Given the description of an element on the screen output the (x, y) to click on. 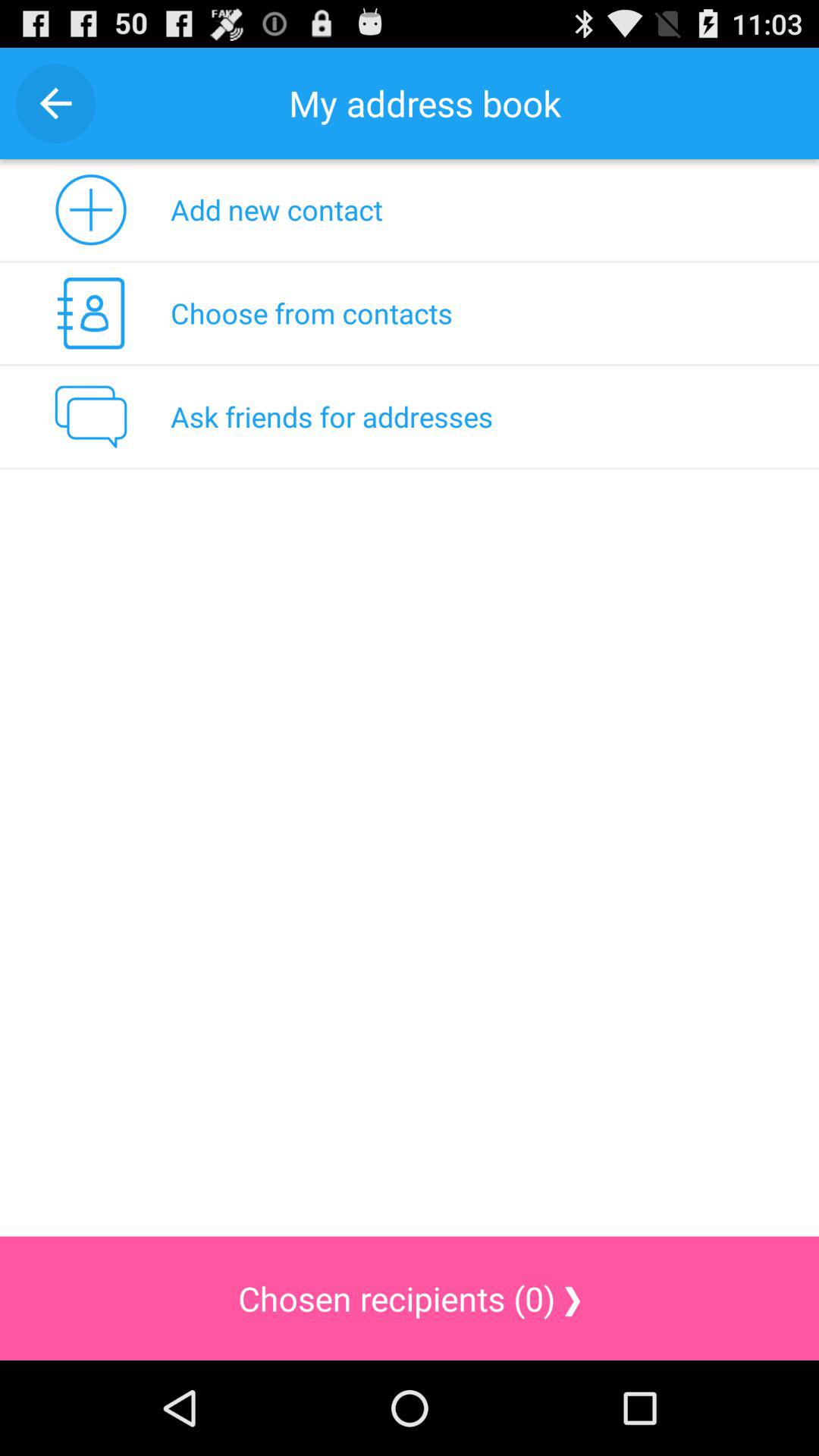
go to back (55, 103)
